Given the description of an element on the screen output the (x, y) to click on. 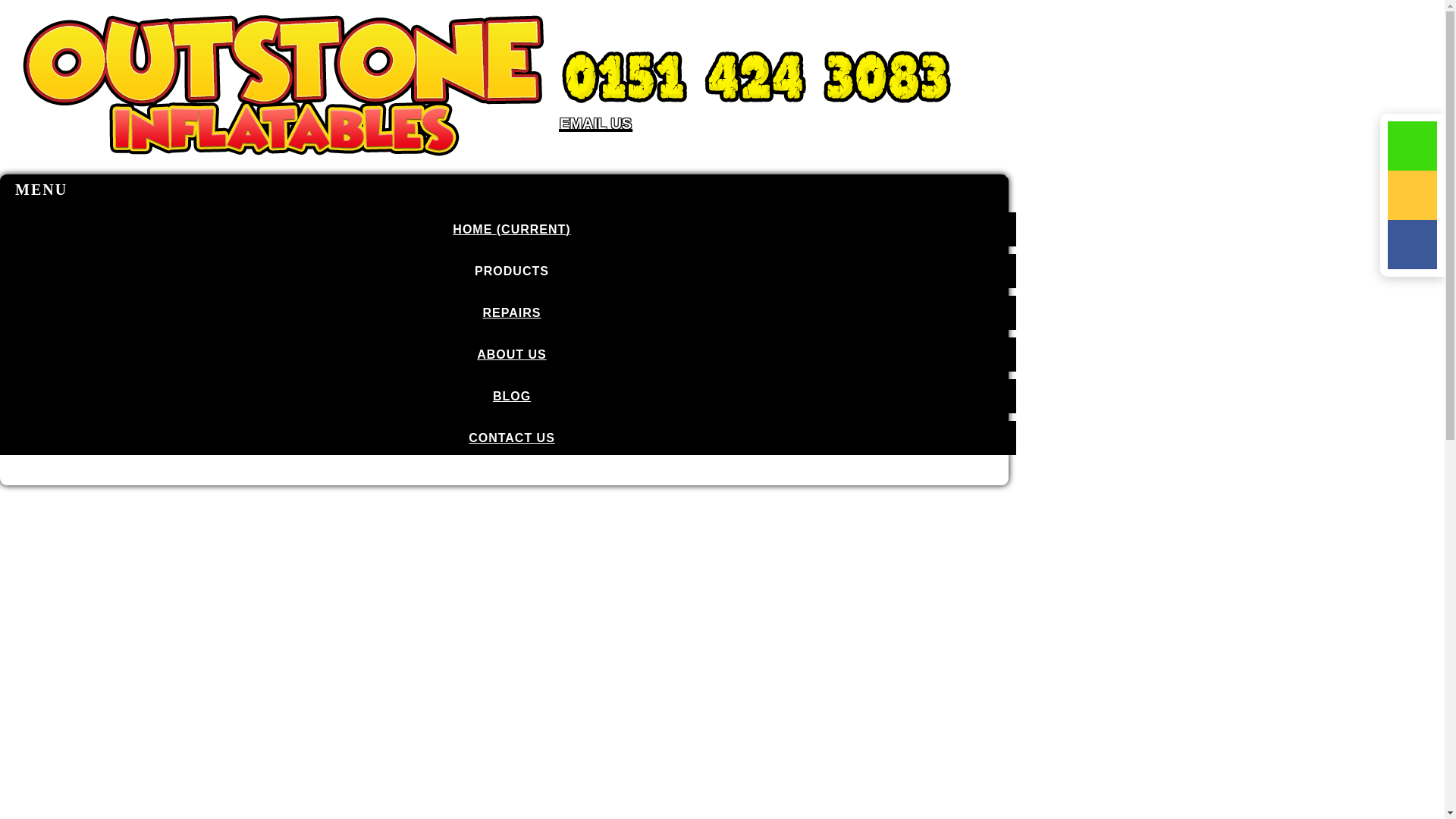
CONTACT US (508, 437)
EMAIL US (757, 130)
PRODUCTS (508, 270)
BLOG (508, 396)
ABOUT US (508, 354)
Outstone Inflatables (283, 166)
REPAIRS (508, 312)
Call us today! (757, 77)
